Given the description of an element on the screen output the (x, y) to click on. 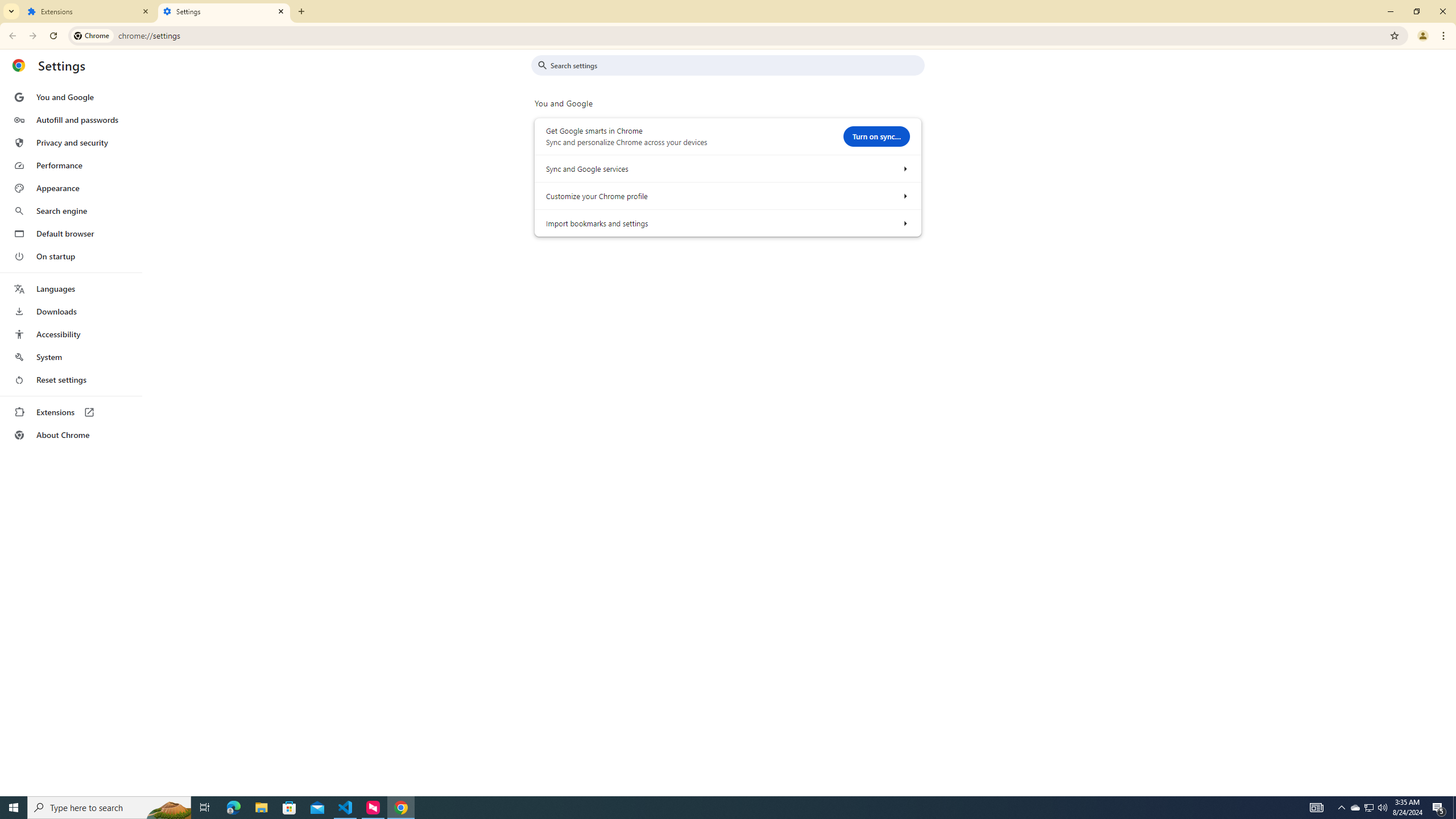
You and Google (70, 96)
Customize your Chrome profile (904, 195)
Performance (70, 164)
Import bookmarks and settings (904, 222)
Extensions (70, 412)
Appearance (70, 187)
Settings (224, 11)
On startup (70, 255)
About Chrome (70, 434)
Extensions (88, 11)
